Given the description of an element on the screen output the (x, y) to click on. 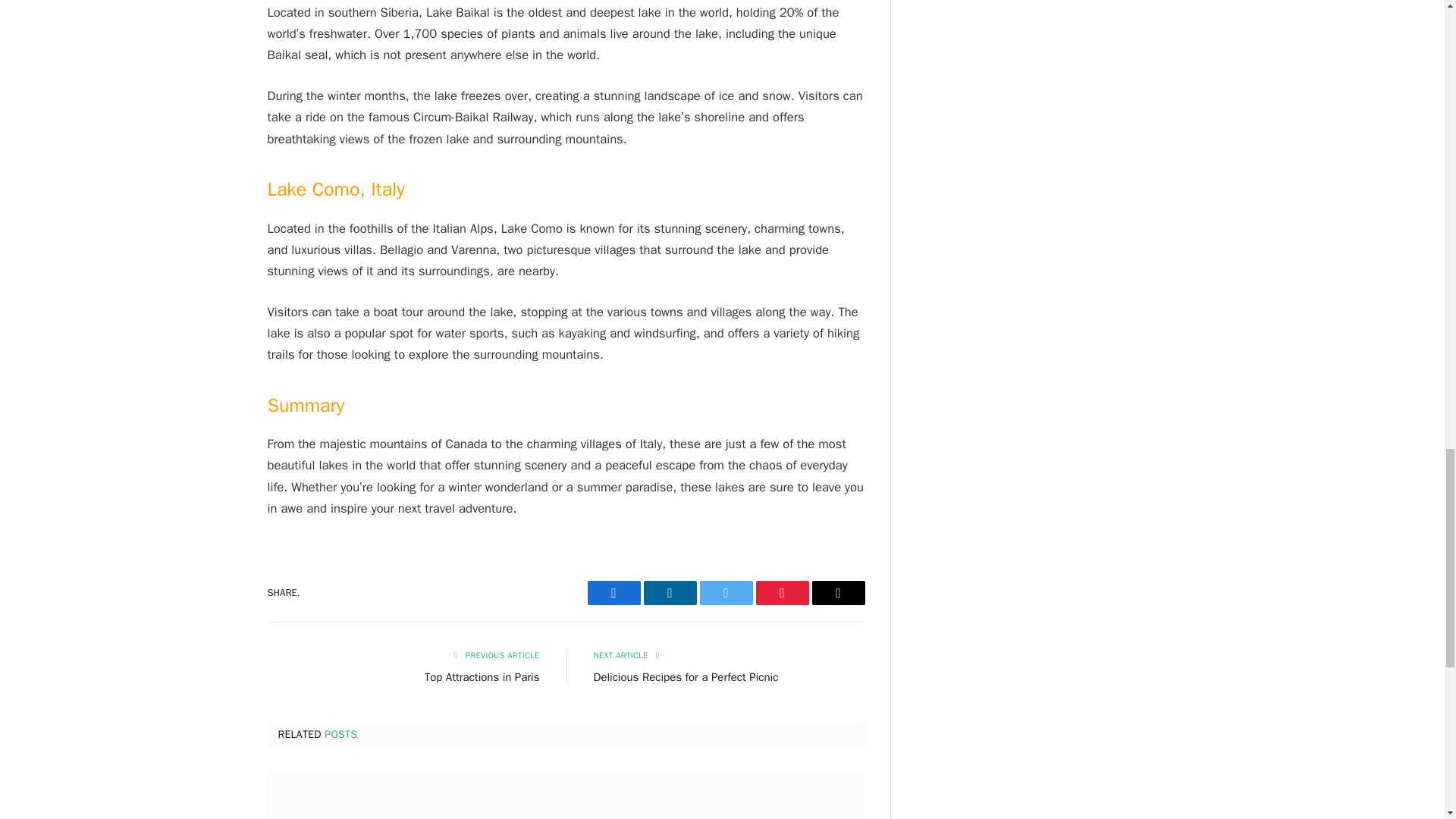
Share on LinkedIn (669, 592)
Twitter (725, 592)
Pinterest (781, 592)
Delicious Recipes for a Perfect Picnic (684, 676)
Share on Facebook (613, 592)
LinkedIn (669, 592)
Facebook (613, 592)
Email (837, 592)
Top Attractions in Paris (482, 676)
